Given the description of an element on the screen output the (x, y) to click on. 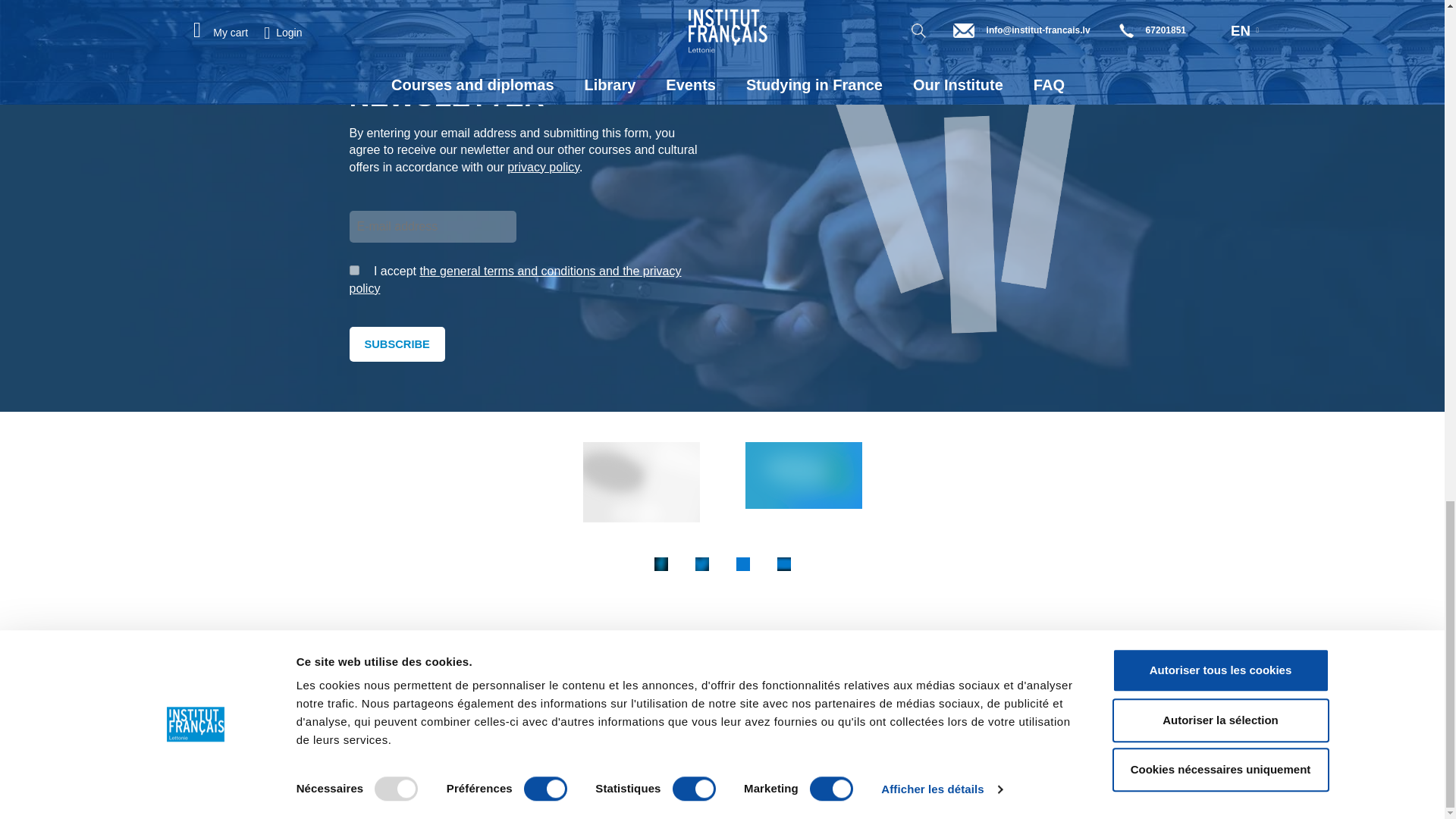
1 (353, 270)
Subscribe (396, 343)
